Given the description of an element on the screen output the (x, y) to click on. 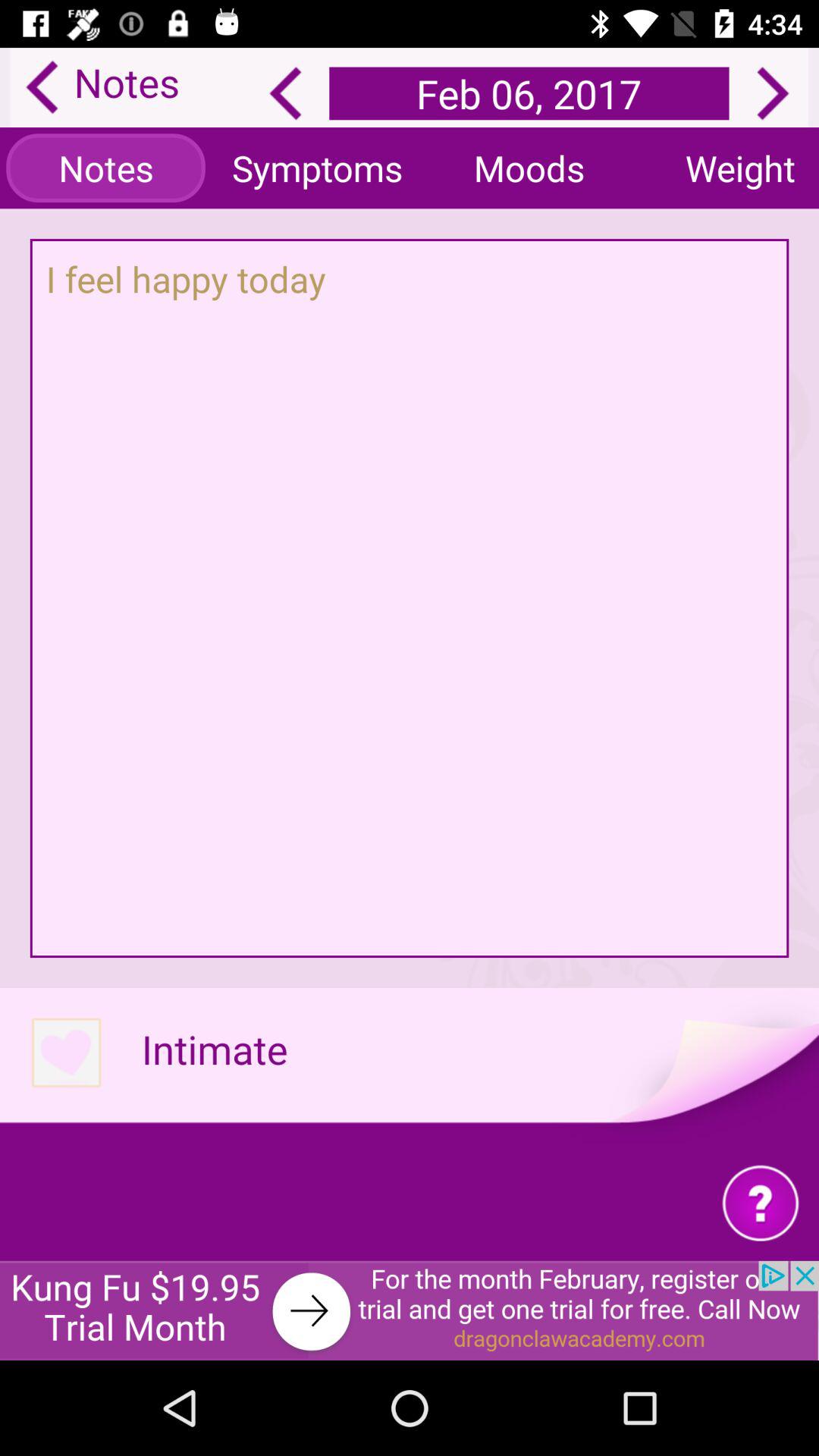
advertisement (409, 1310)
